Given the description of an element on the screen output the (x, y) to click on. 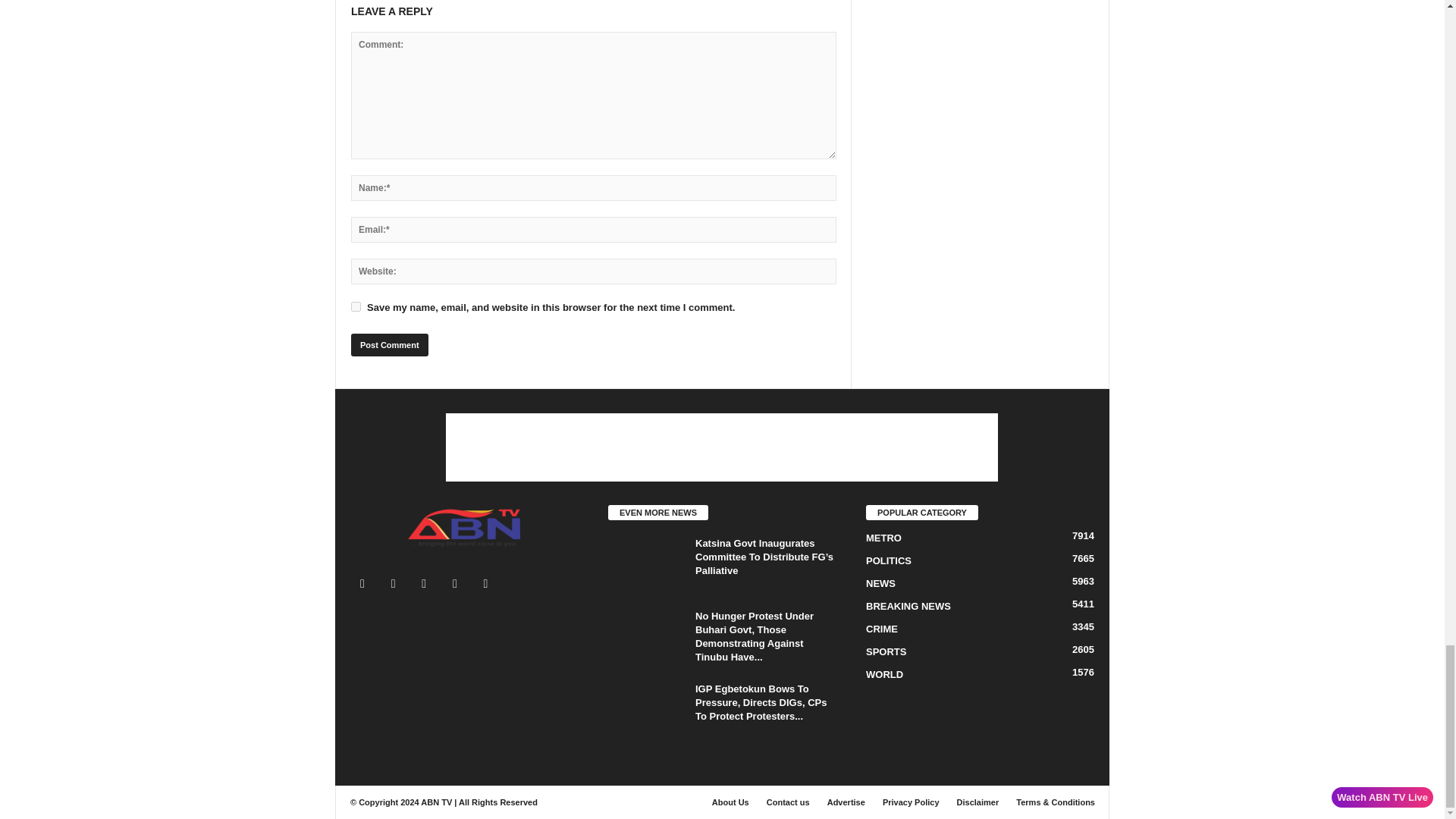
Post Comment (389, 344)
yes (355, 307)
